Given the description of an element on the screen output the (x, y) to click on. 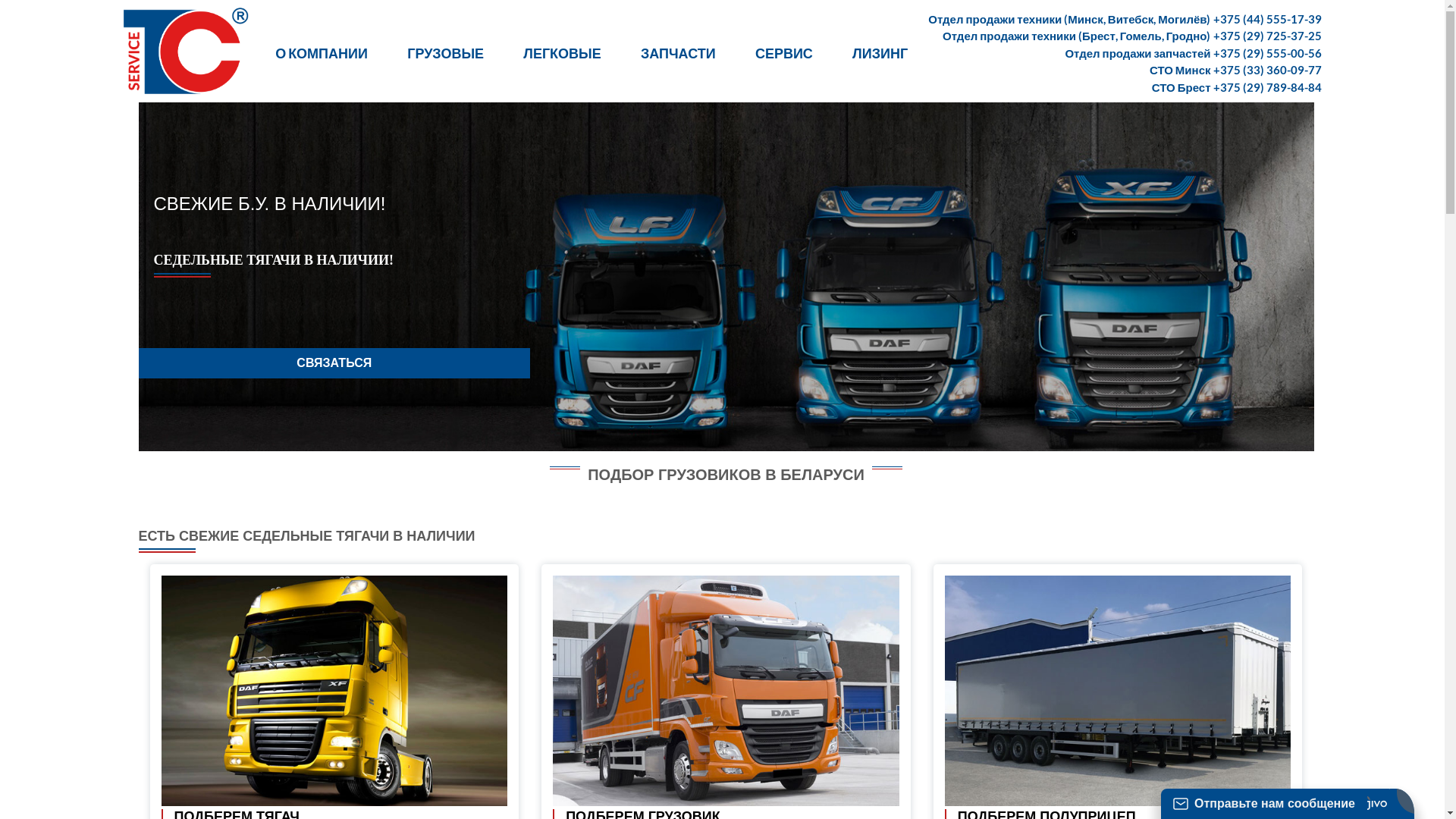
+375 (44) 555-17-39 Element type: text (1267, 18)
+375 (29) 789-84-84 Element type: text (1267, 87)
+375 (29) 725-37-25 Element type: text (1267, 35)
+375 (33) 360-09-77 Element type: text (1267, 69)
+375 (29) 555-00-56 Element type: text (1267, 52)
